Given the description of an element on the screen output the (x, y) to click on. 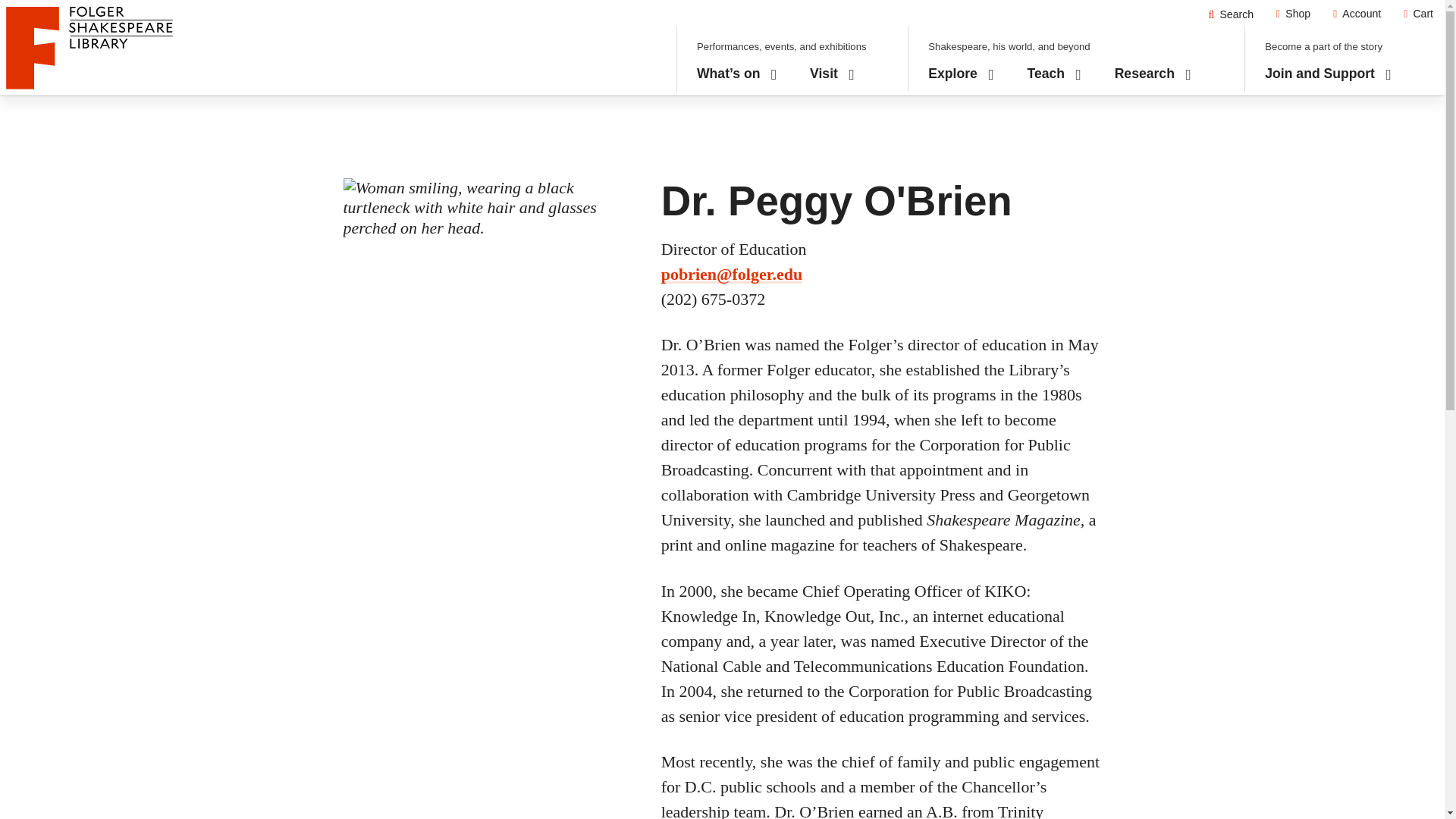
Shop (1230, 14)
Teach (1293, 13)
Research (1053, 73)
Account (1152, 73)
Folger Shakespeare Library - Home (1356, 13)
Explore (89, 47)
Visit (961, 73)
